Given the description of an element on the screen output the (x, y) to click on. 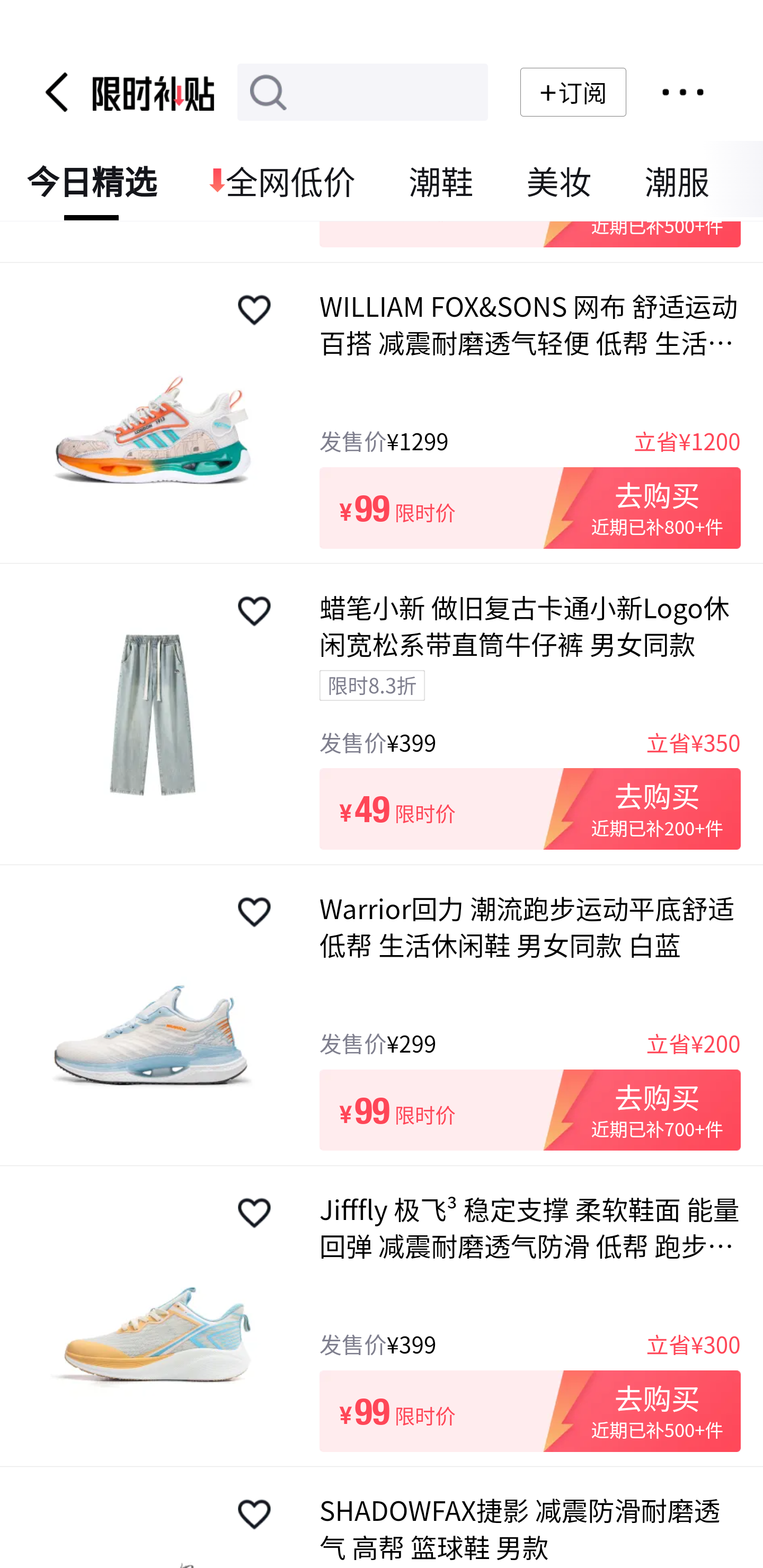
+订阅 (572, 92)
resize,w_60 (254, 311)
resize,w_60 (254, 611)
resize,w_60 (254, 914)
resize,w_60 (254, 1214)
resize,w_60 (254, 1515)
